Given the description of an element on the screen output the (x, y) to click on. 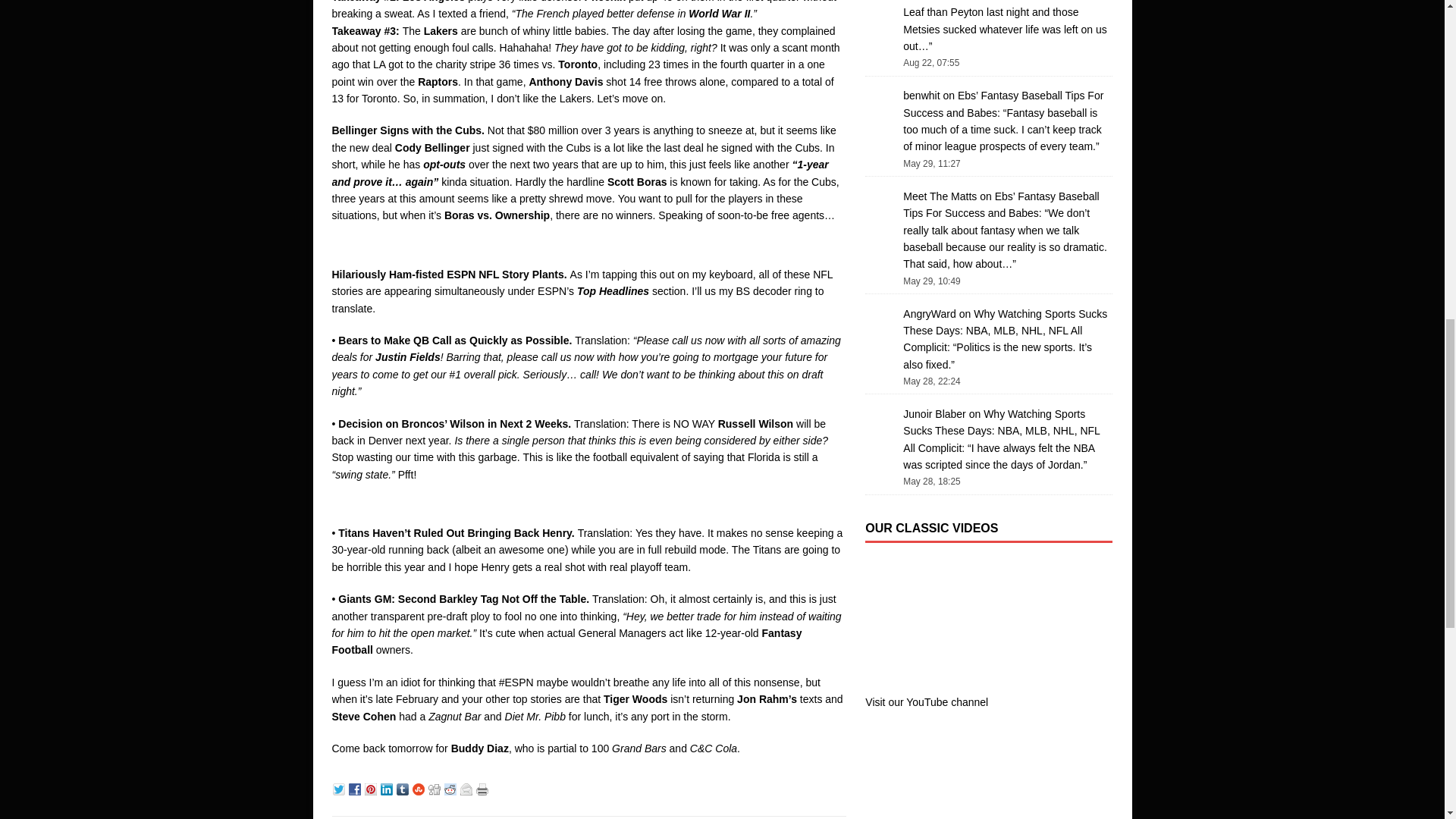
Facebook (357, 787)
Pinterest (372, 787)
Digg (436, 787)
Tumblr (404, 787)
Reddit (452, 787)
Print (484, 787)
Linkedin (388, 787)
Email (468, 787)
Twitter (339, 787)
